Given the description of an element on the screen output the (x, y) to click on. 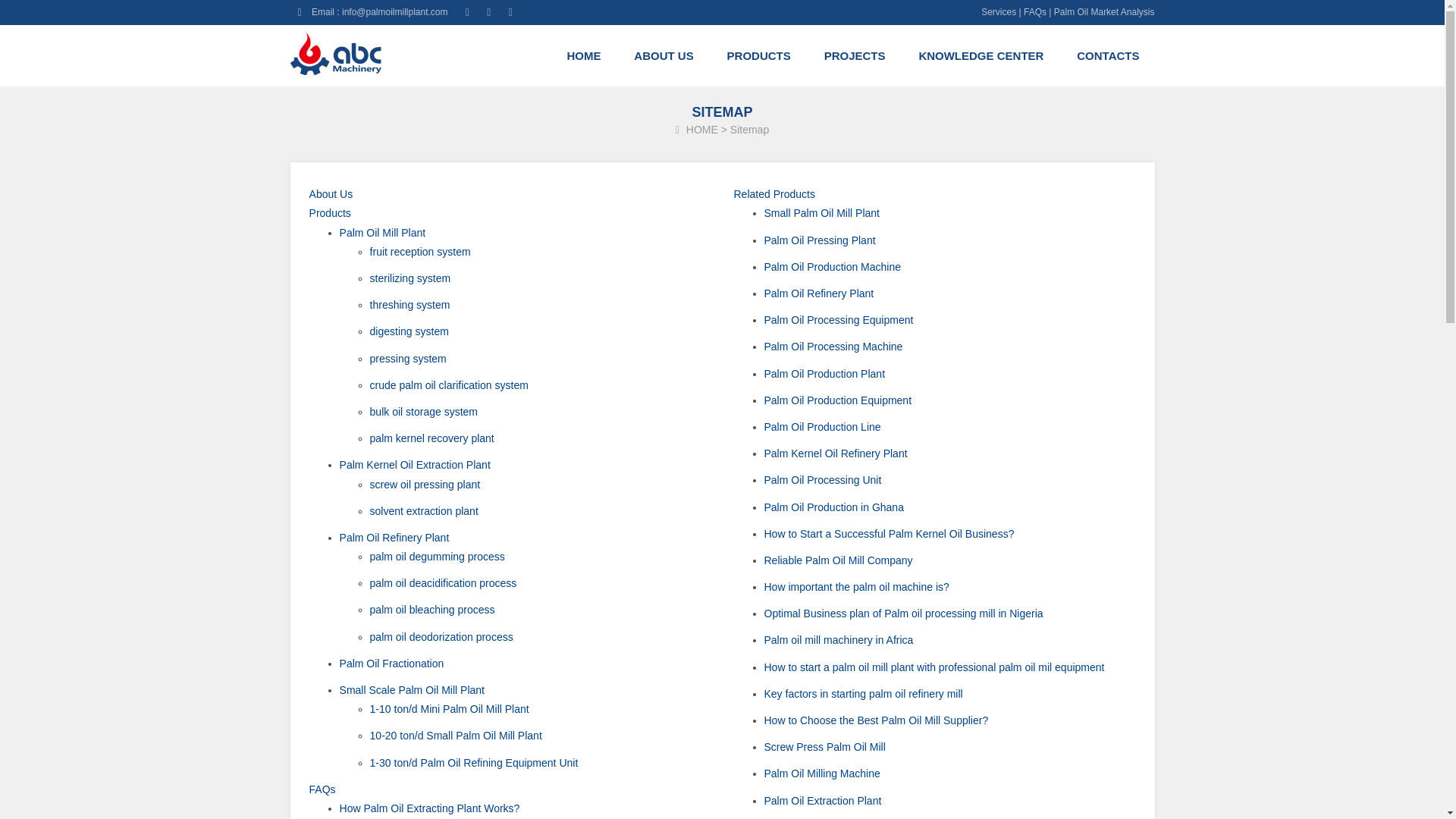
Palm Oil Refinery Plant (394, 537)
Palm Kernel Oil Extraction Plant (414, 464)
fruit reception system (419, 251)
PRODUCTS (759, 55)
digesting system (408, 331)
solvent extraction plant (424, 510)
HOME (701, 129)
KNOWLEDGE CENTER (980, 55)
About Us (330, 193)
sterilizing system (410, 277)
